Given the description of an element on the screen output the (x, y) to click on. 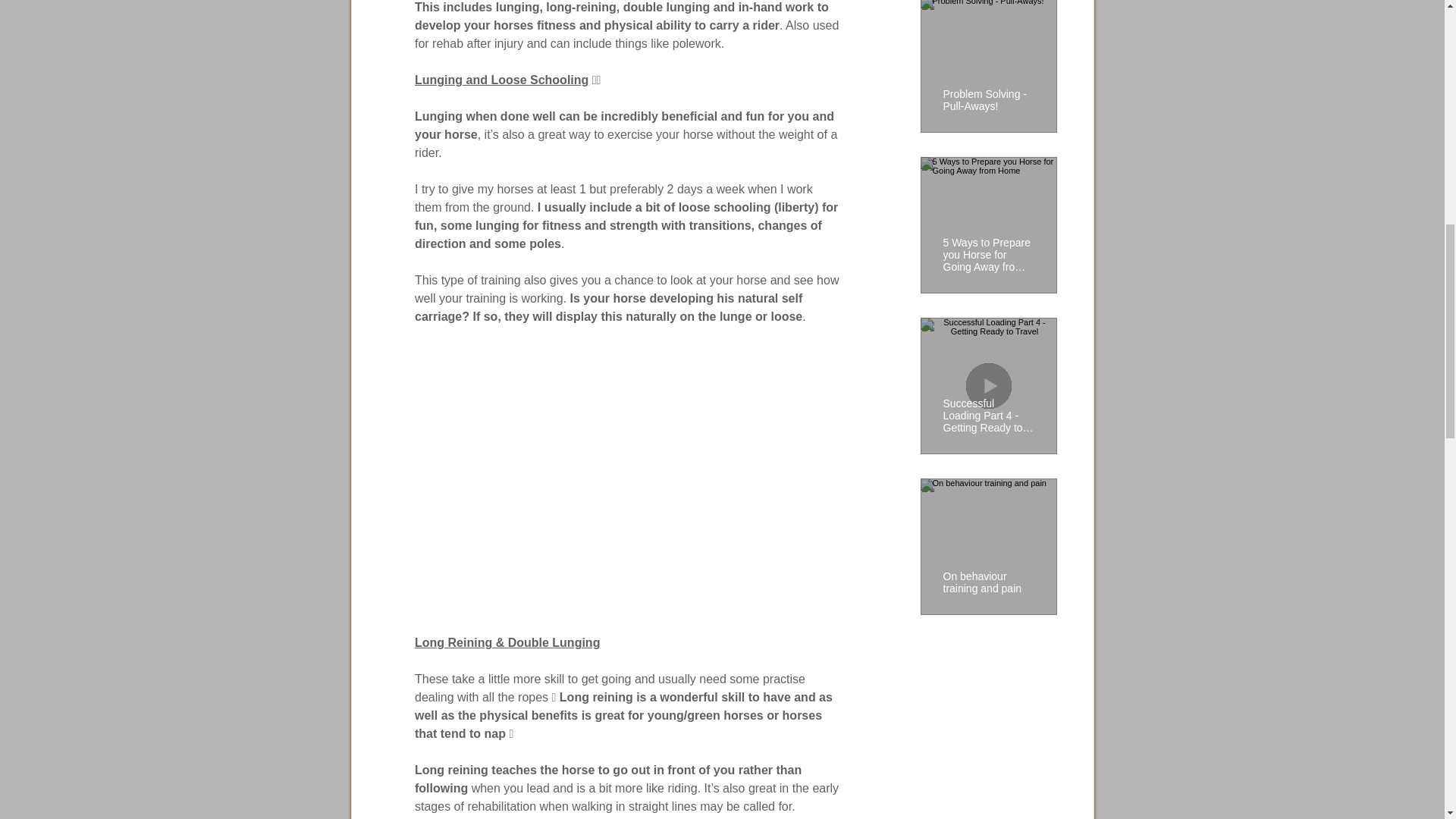
Problem Solving - Pull-Aways! (988, 93)
On behaviour training and pain (988, 575)
5 Ways to Prepare you Horse for Going Away from Home (988, 247)
Successful Loading Part 4 - Getting Ready to Travel (988, 409)
